Given the description of an element on the screen output the (x, y) to click on. 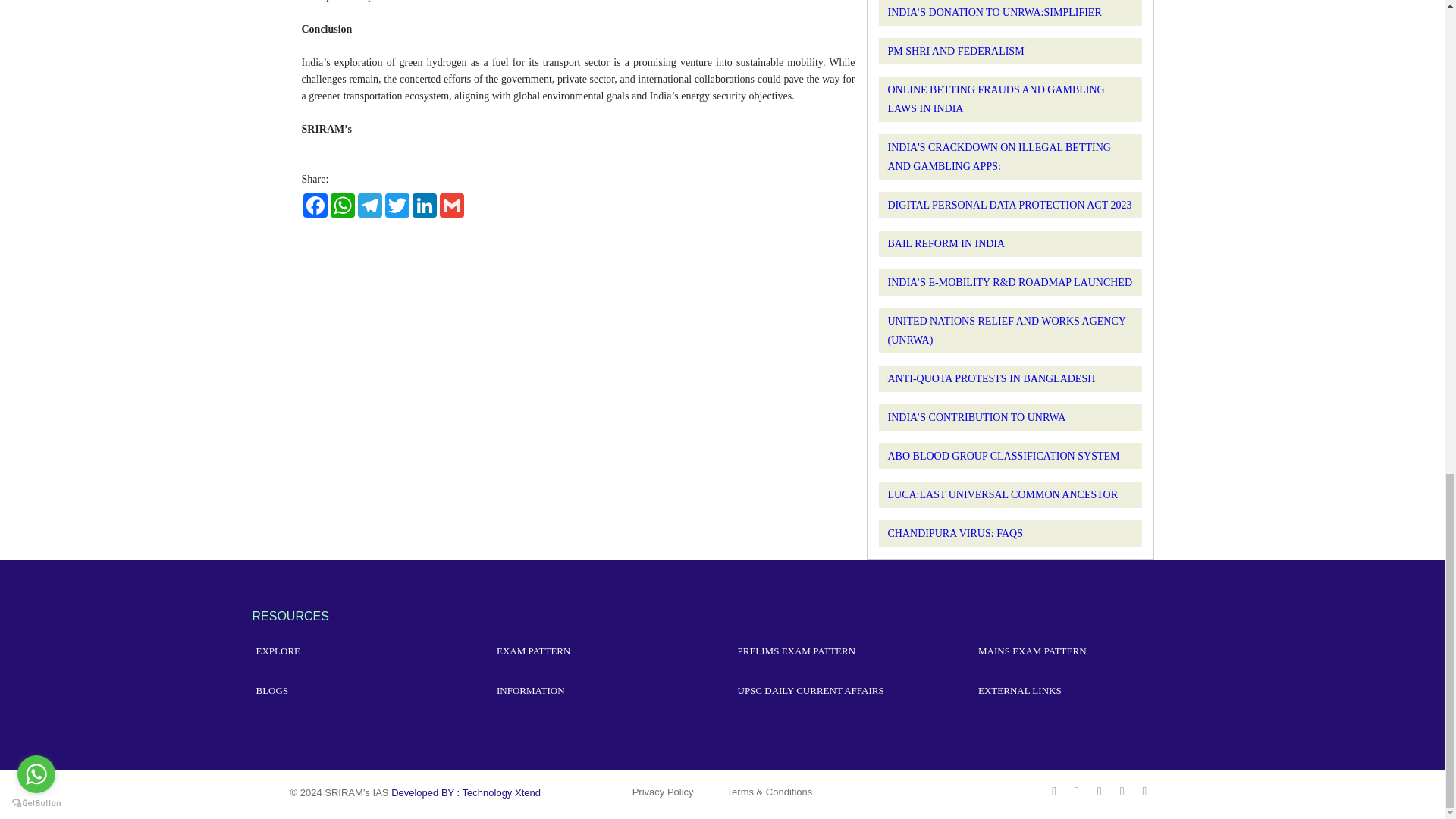
DIGITAL PERSONAL DATA PROTECTION ACT 2023 (1008, 204)
LUCA:LAST UNIVERSAL COMMON ANCESTOR (1002, 494)
Twitter (397, 205)
PM SHRI AND FEDERALISM (954, 50)
ANTI-QUOTA PROTESTS IN BANGLADESH (990, 378)
Gmail (451, 205)
ONLINE BETTING FRAUDS AND GAMBLING LAWS IN INDIA (994, 99)
INDIA'S CRACKDOWN ON ILLEGAL BETTING AND GAMBLING APPS: (997, 156)
BAIL REFORM IN INDIA (945, 243)
Telegram (370, 205)
WhatsApp (342, 205)
Facebook (315, 205)
LinkedIn (424, 205)
ABO BLOOD GROUP CLASSIFICATION SYSTEM (1002, 455)
